Given the description of an element on the screen output the (x, y) to click on. 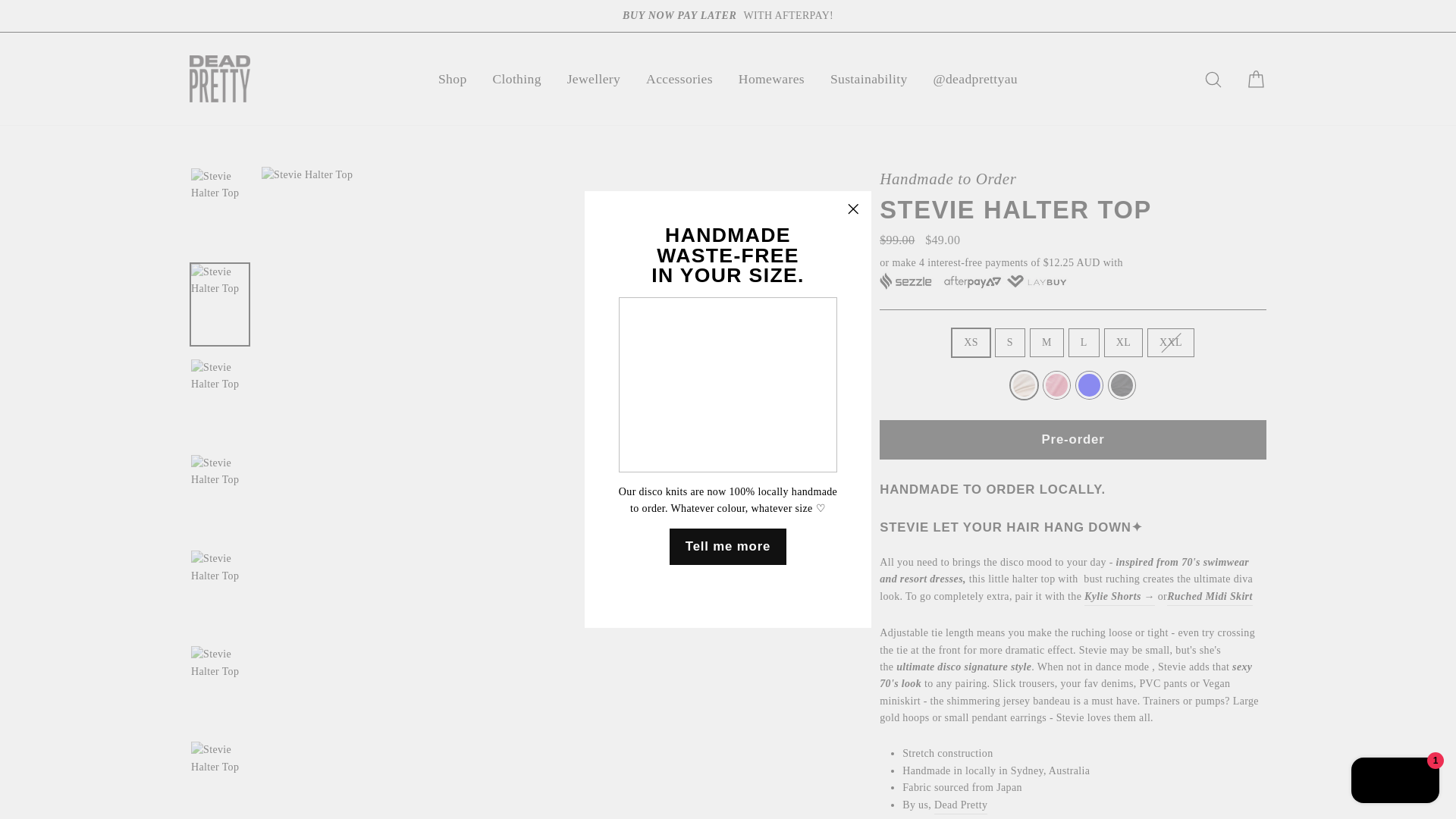
Shopify online store chat (1395, 781)
Shop (452, 79)
